Given the description of an element on the screen output the (x, y) to click on. 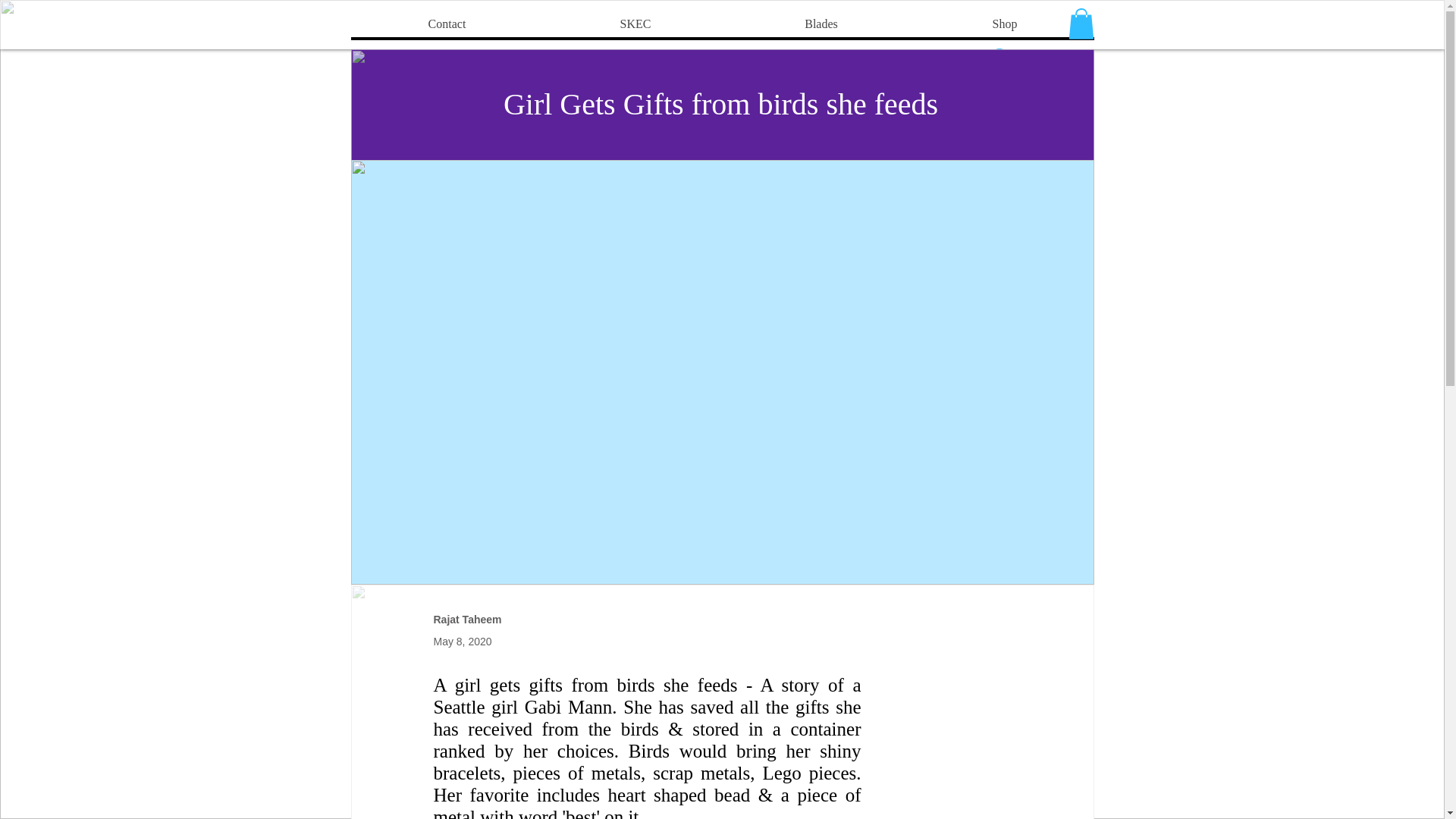
Shop (1003, 23)
Log In (1020, 58)
Contact (446, 23)
Blades (820, 23)
SKEC (634, 23)
